Given the description of an element on the screen output the (x, y) to click on. 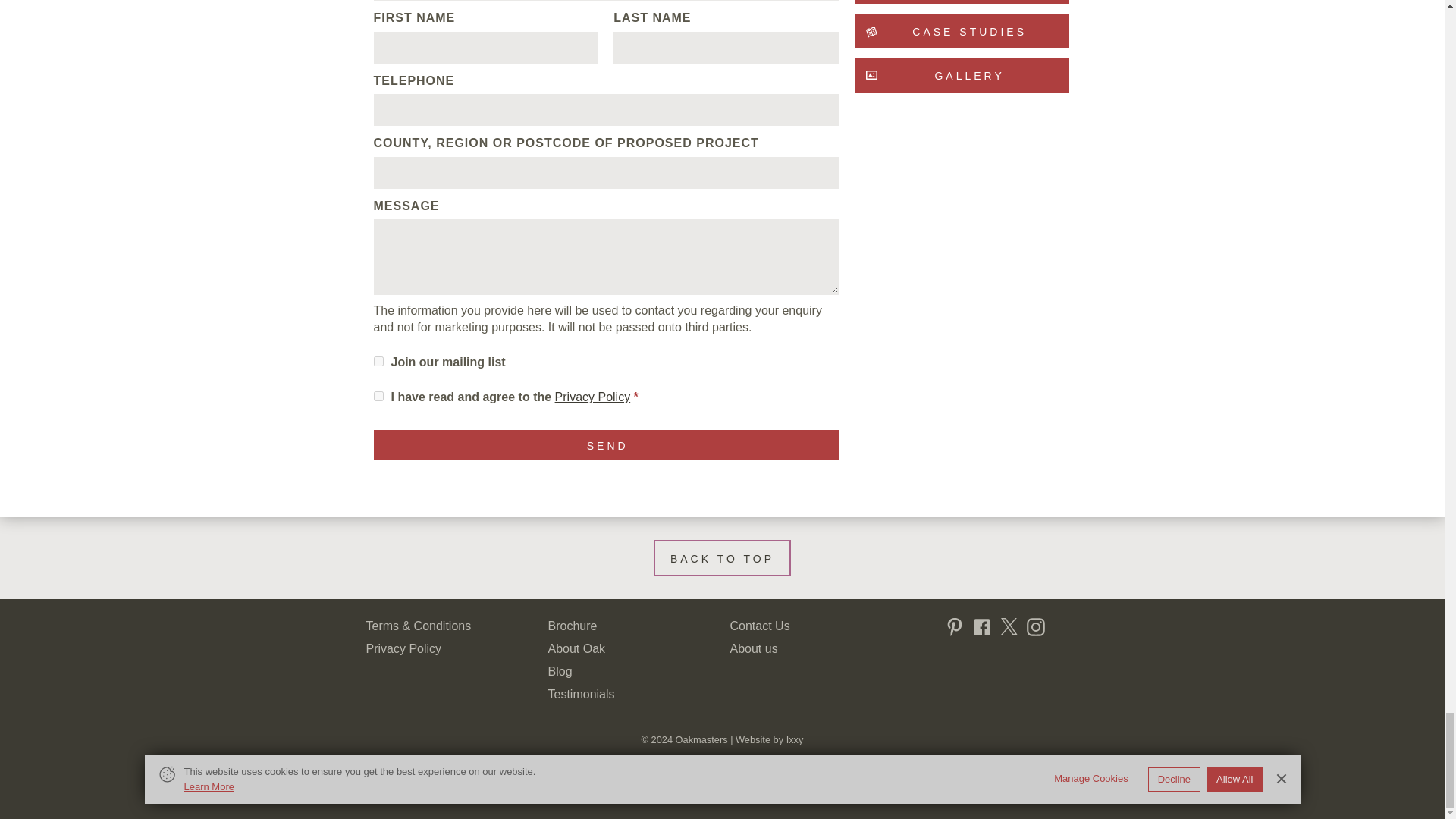
on (377, 361)
on (377, 396)
Send (605, 444)
privacy policy (592, 397)
